Given the description of an element on the screen output the (x, y) to click on. 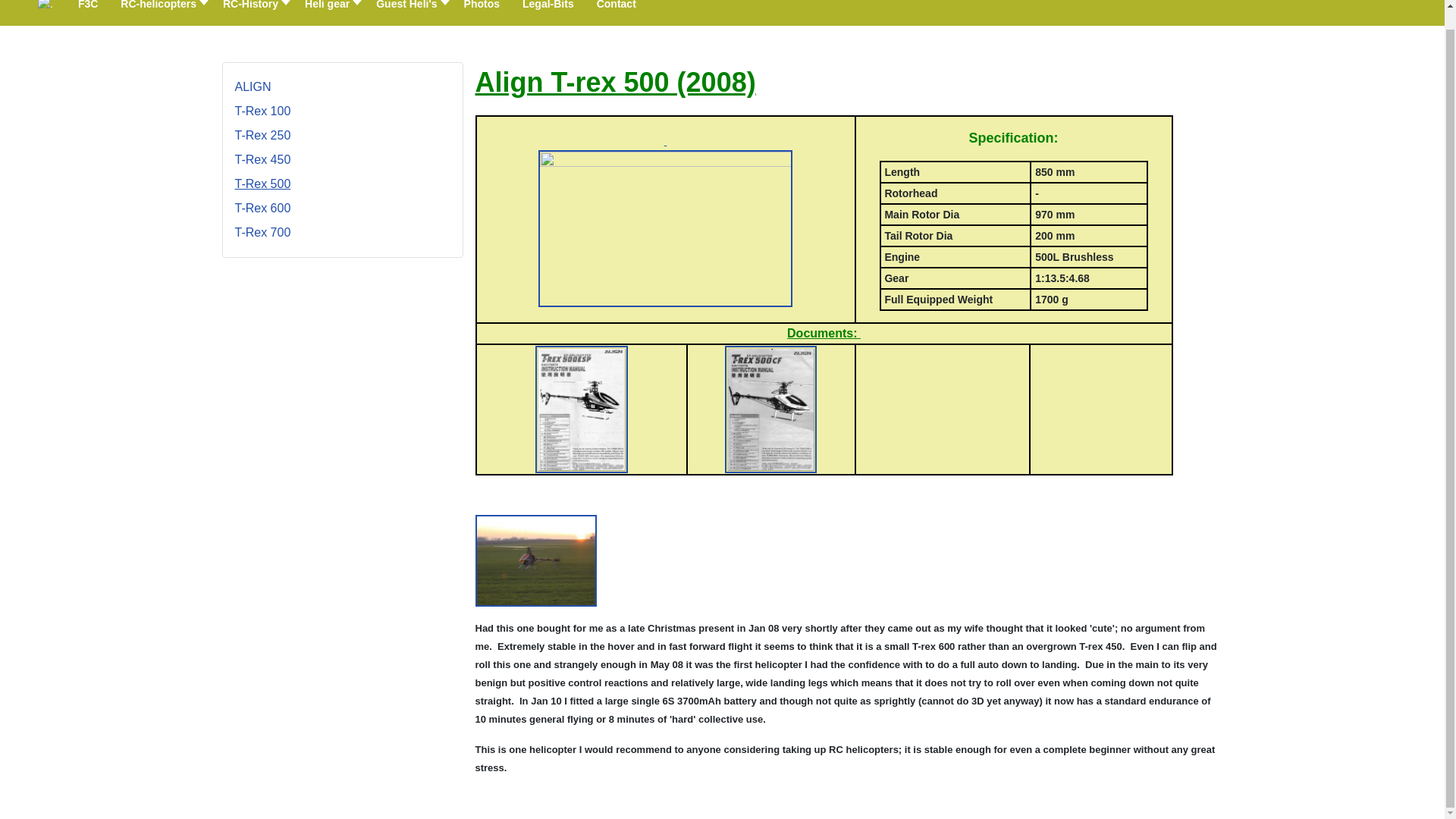
RC-helicopters (160, 11)
F3C (87, 11)
